Given the description of an element on the screen output the (x, y) to click on. 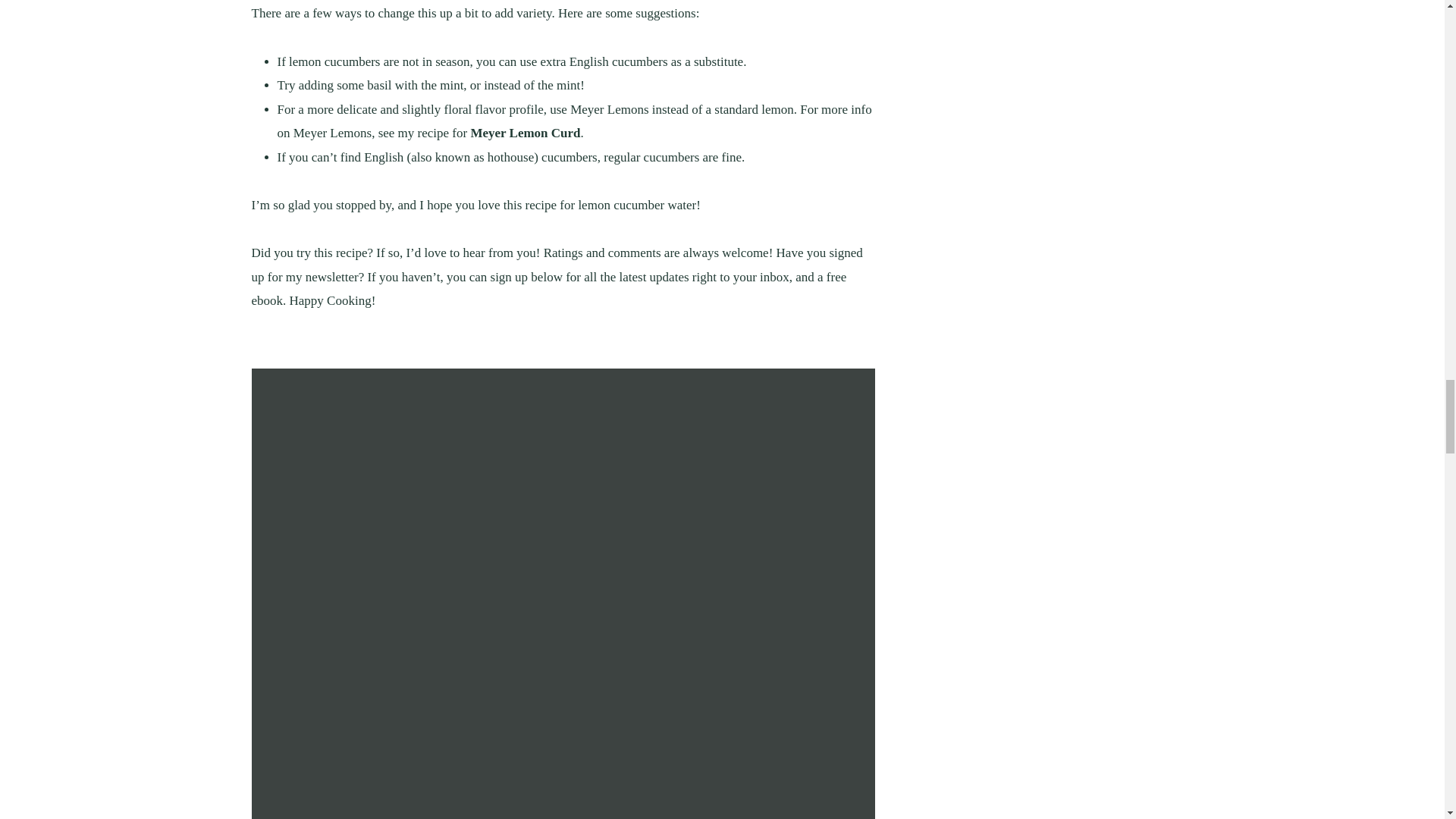
Meyer Lemon Curd (524, 133)
